Given the description of an element on the screen output the (x, y) to click on. 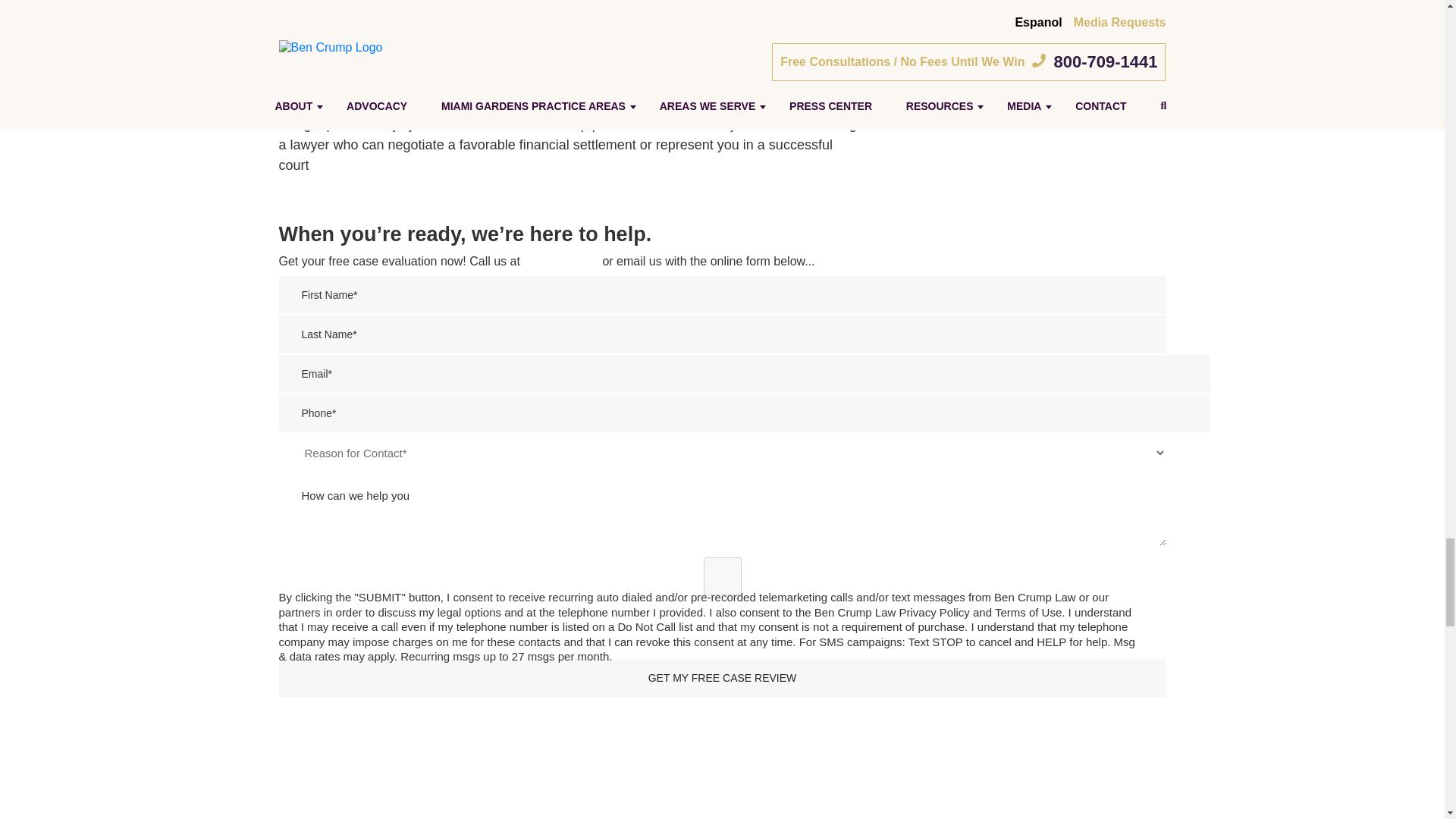
GET MY FREE CASE REVIEW (722, 677)
What Are the Steps in a Personal Injury Lawsuit? (571, 49)
What Are the Steps in a Personal Injury Lawsuit (571, 37)
